Given the description of an element on the screen output the (x, y) to click on. 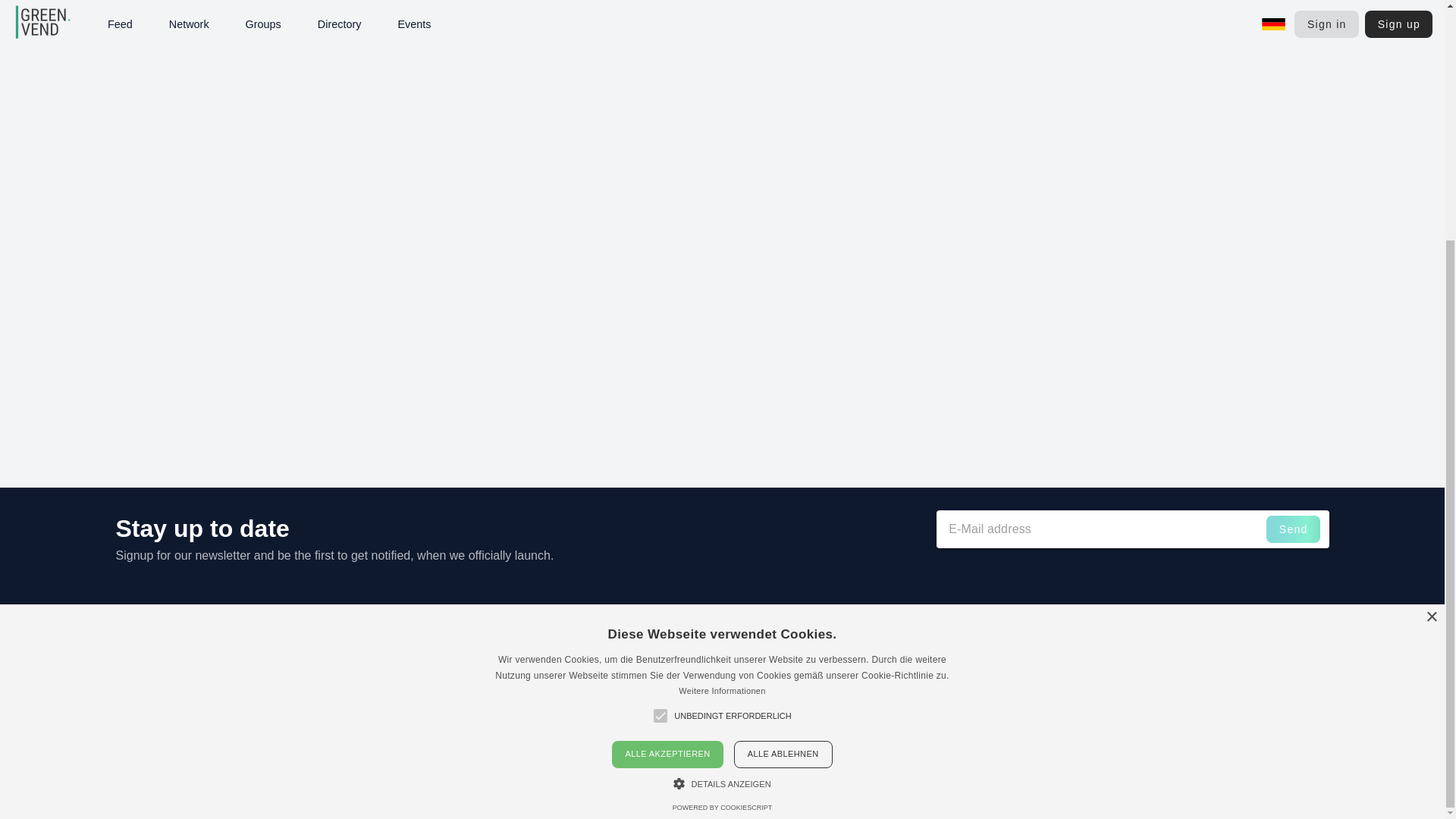
Privacy (1239, 672)
Imprint (1238, 636)
Directory (1128, 690)
Feed (1120, 654)
Blog (1119, 727)
Send (1293, 528)
Network (1127, 708)
Events (1124, 672)
Home (1122, 636)
